Given the description of an element on the screen output the (x, y) to click on. 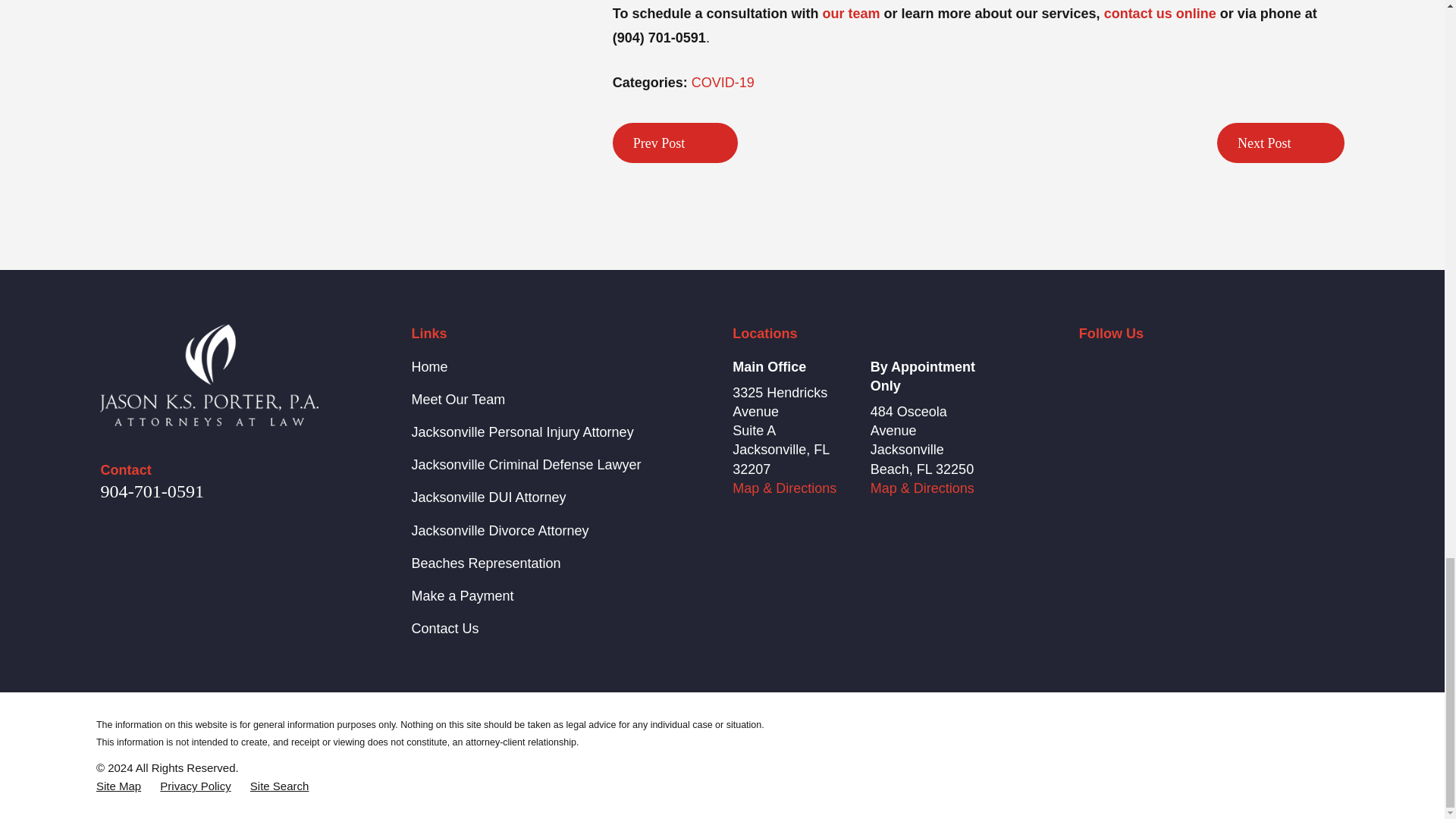
Google Business Profile (1205, 366)
Home (209, 374)
Yelp (1127, 366)
YouTube (1246, 366)
Avvo (1166, 366)
Facebook (1087, 366)
